Given the description of an element on the screen output the (x, y) to click on. 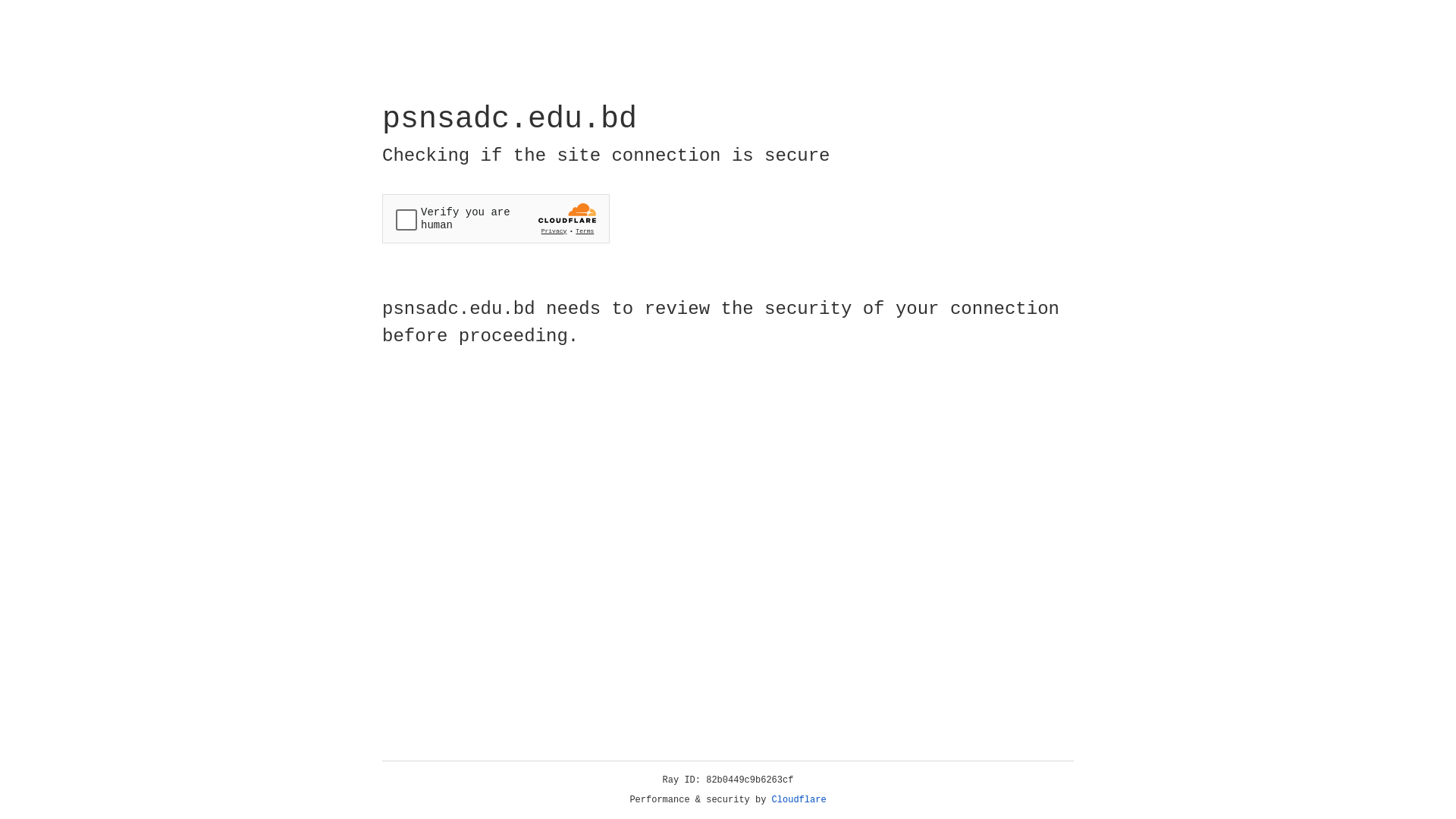
Widget containing a Cloudflare security challenge Element type: hover (495, 218)
Cloudflare Element type: text (798, 799)
